Given the description of an element on the screen output the (x, y) to click on. 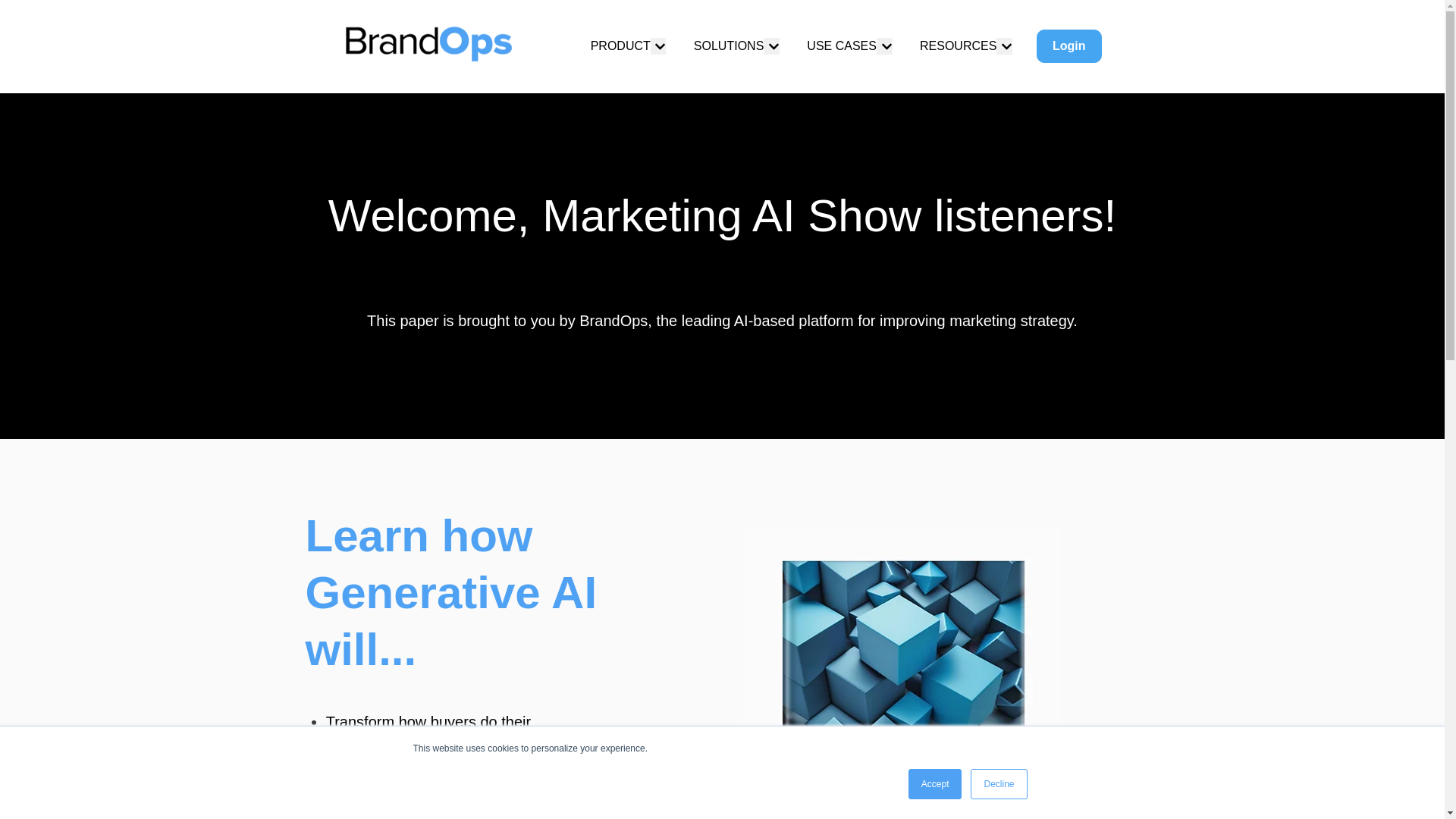
RESOURCES (957, 45)
PRODUCT (620, 45)
USE CASES (841, 45)
Applying Generative AI in Marketing (900, 673)
SOLUTIONS (728, 45)
Accept (935, 784)
Decline (998, 784)
